Given the description of an element on the screen output the (x, y) to click on. 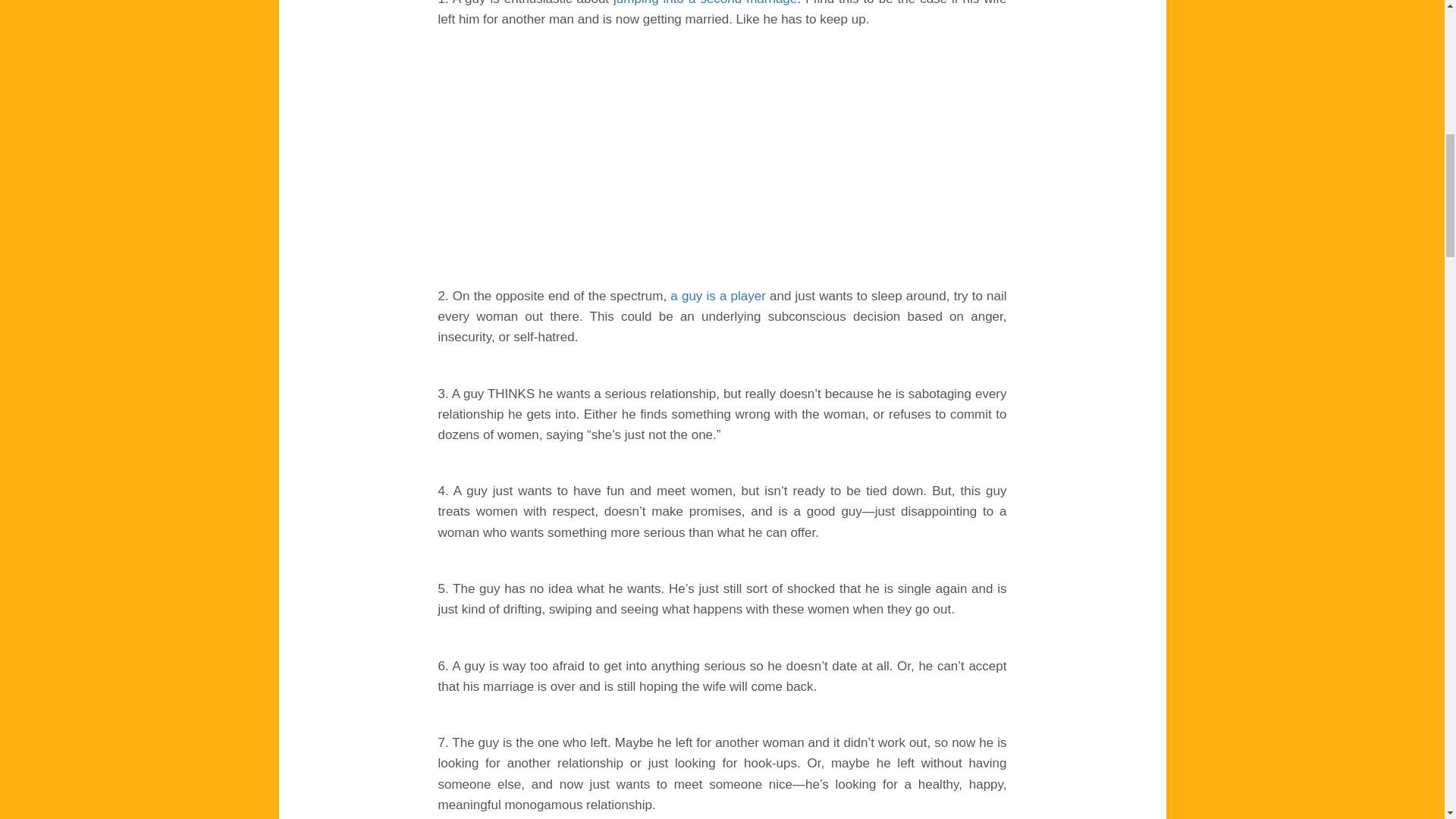
Are You Dating A Player Or Is He Just A Player With You? (719, 296)
jumping into a second marriage (704, 2)
Second Marriage After 50: Topics to Discuss (704, 2)
a guy is a player (719, 296)
